Given the description of an element on the screen output the (x, y) to click on. 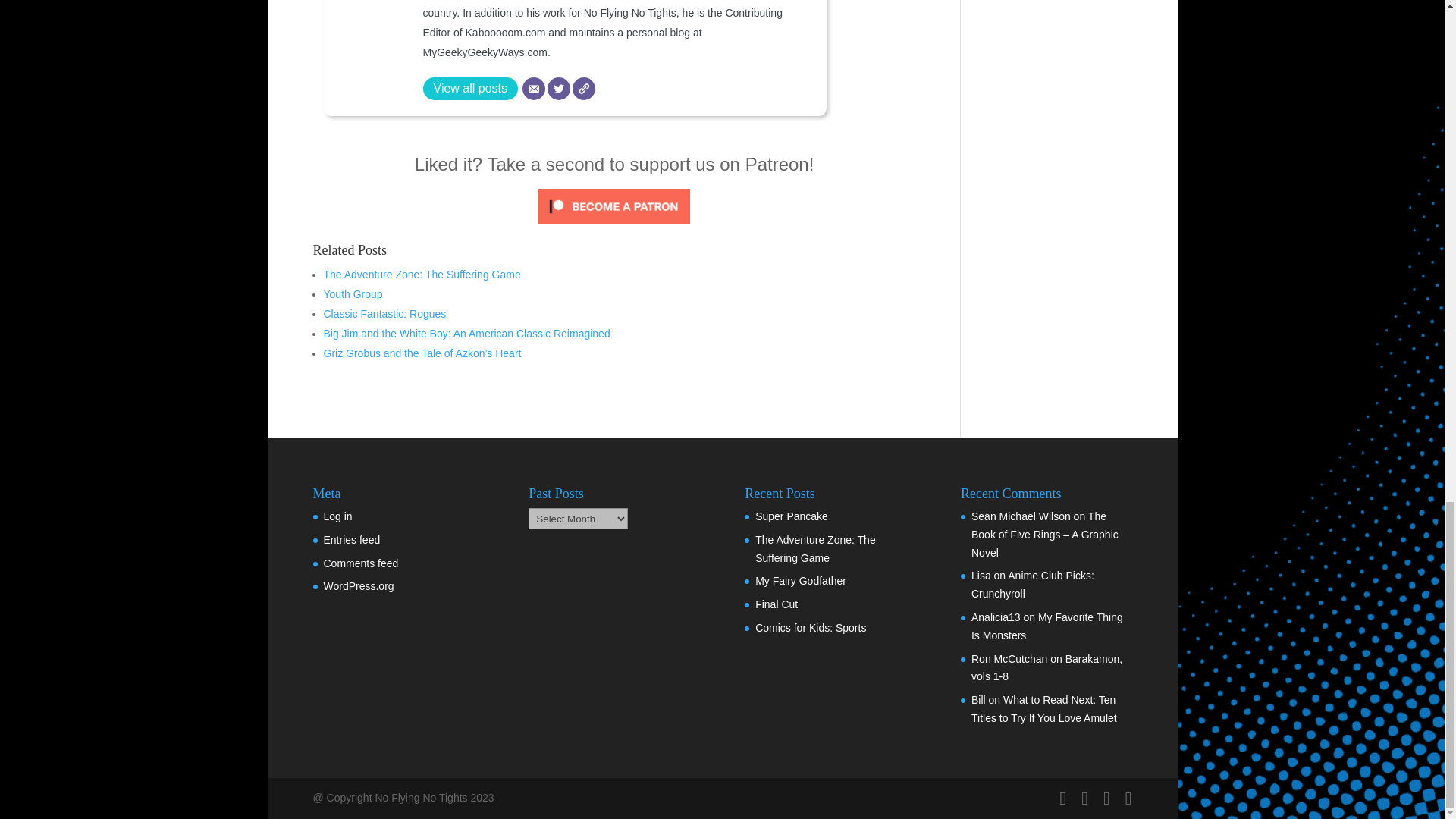
View all posts (470, 87)
